Given the description of an element on the screen output the (x, y) to click on. 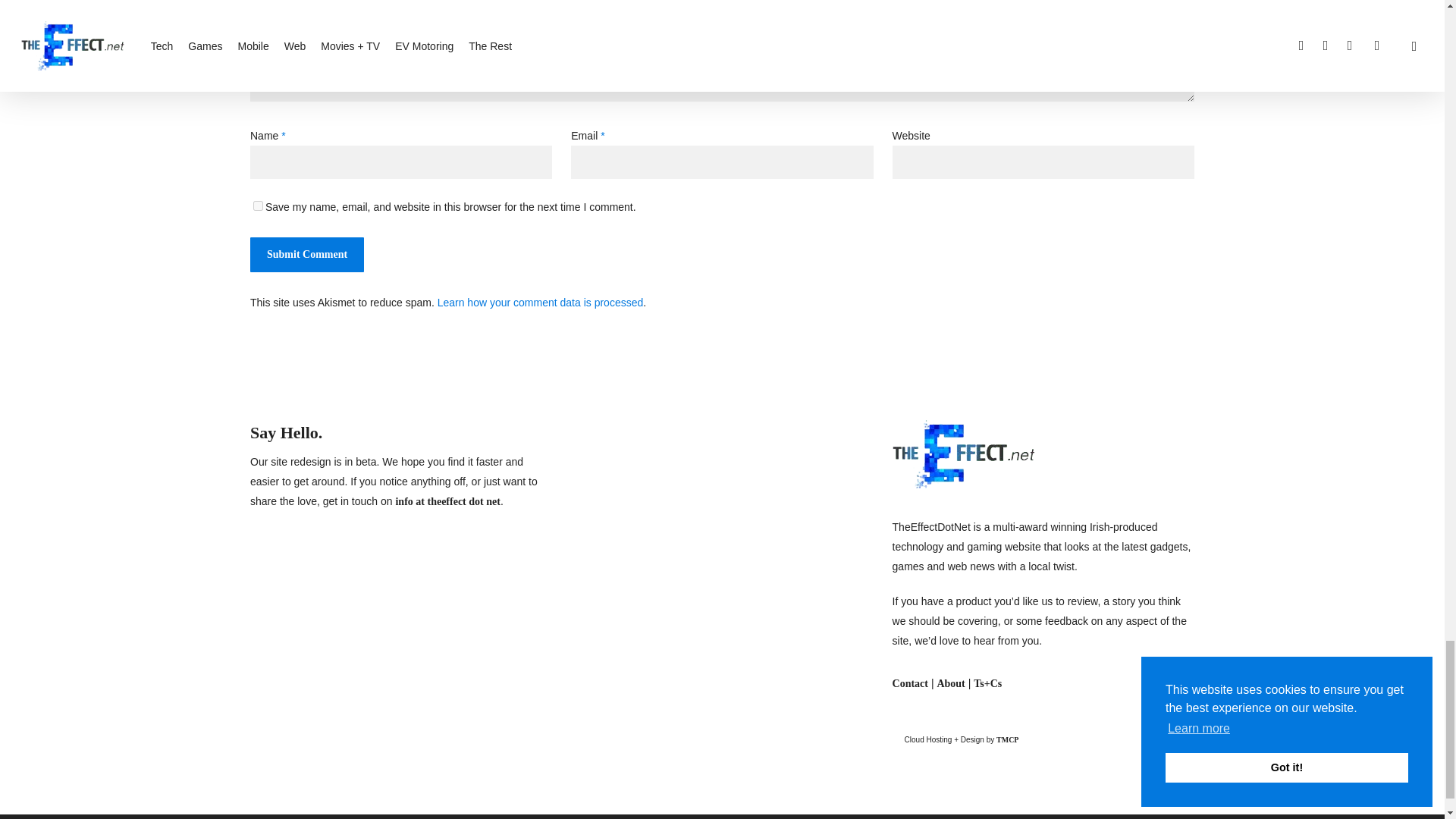
Get in touch with TheEffectDotNet (910, 683)
yes (258, 205)
Submit Comment (307, 254)
